Given the description of an element on the screen output the (x, y) to click on. 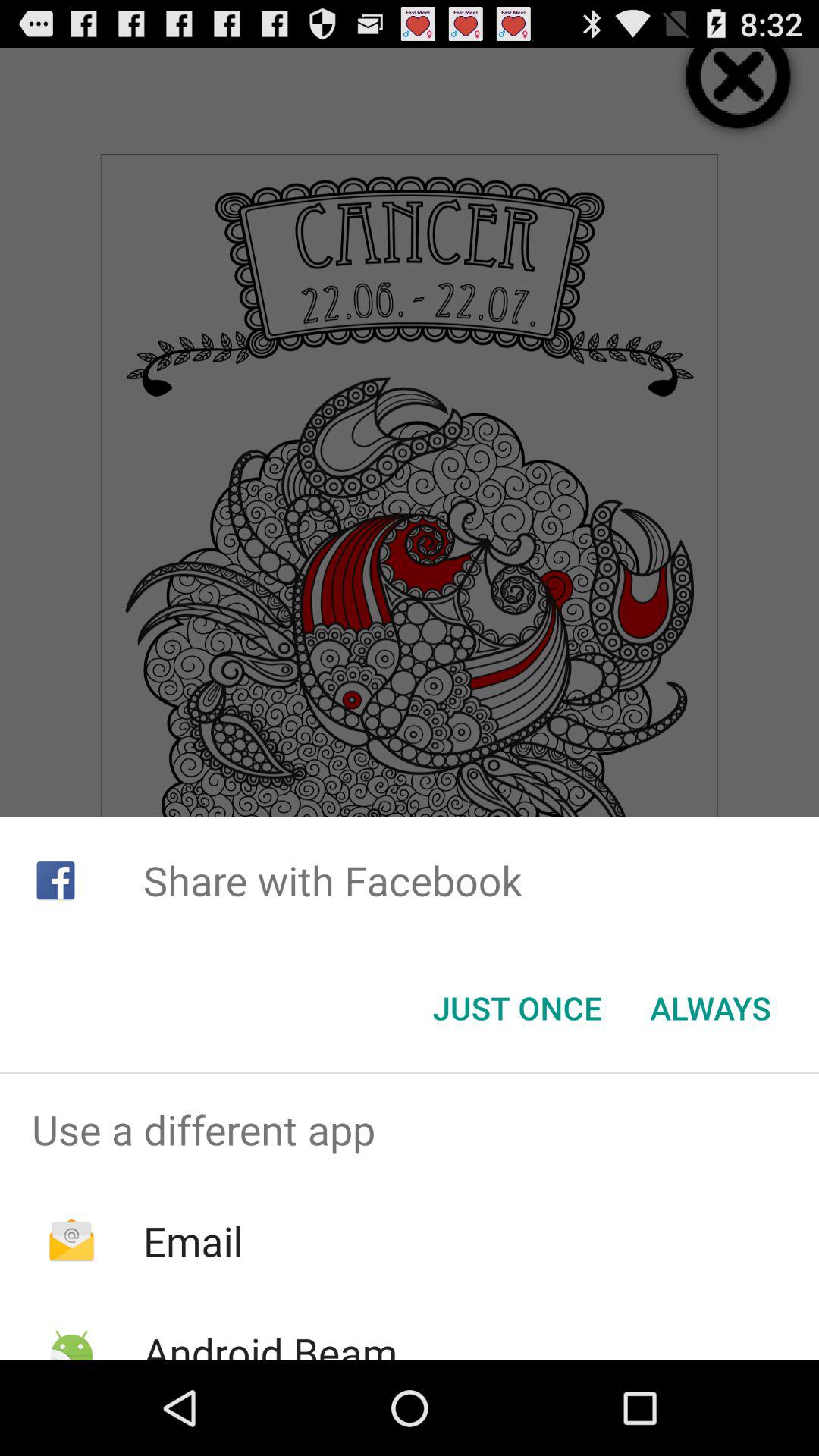
jump to the just once button (517, 1007)
